Given the description of an element on the screen output the (x, y) to click on. 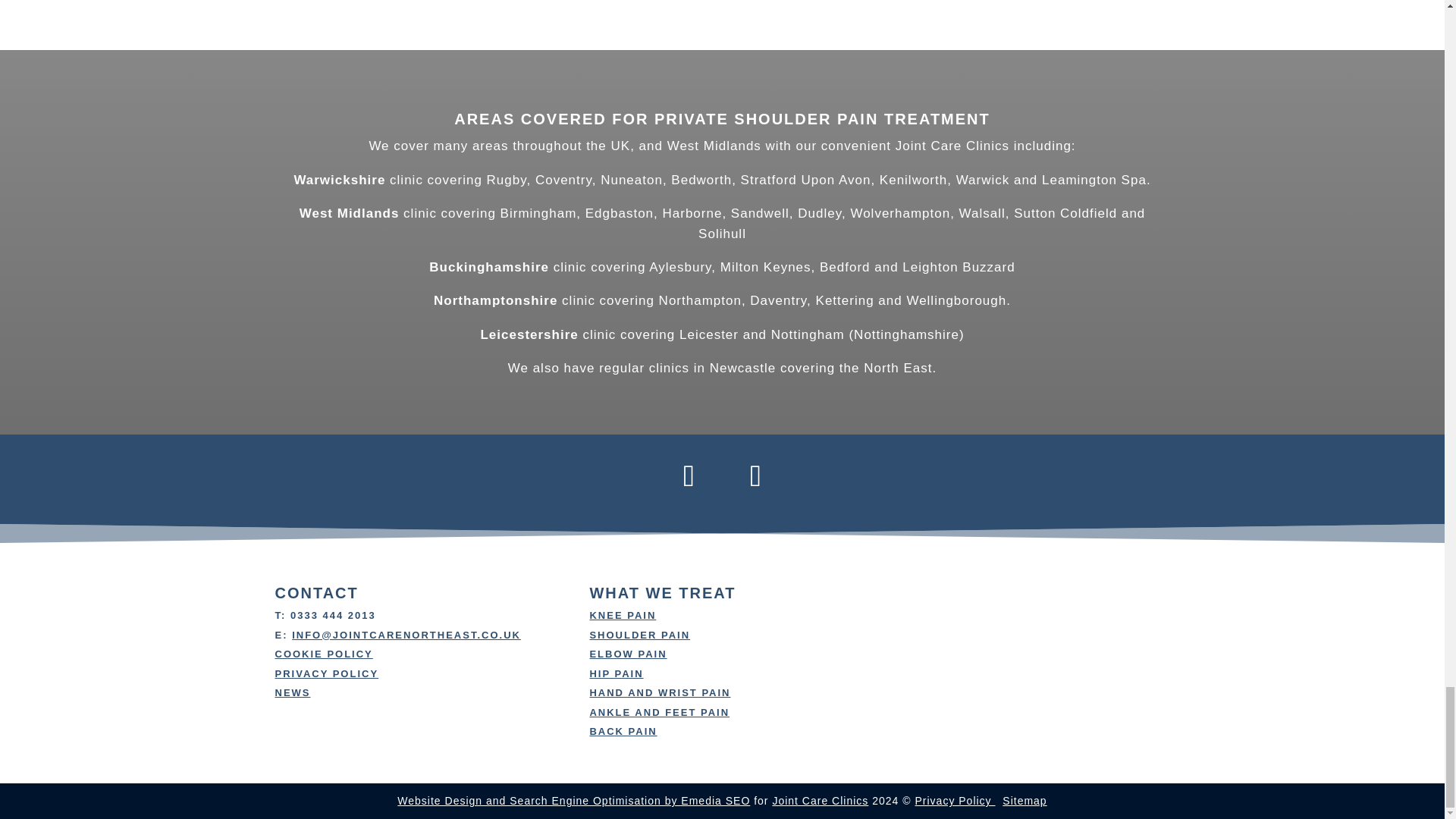
Follow on Facebook (688, 475)
Follow on LinkedIn (755, 475)
